Given the description of an element on the screen output the (x, y) to click on. 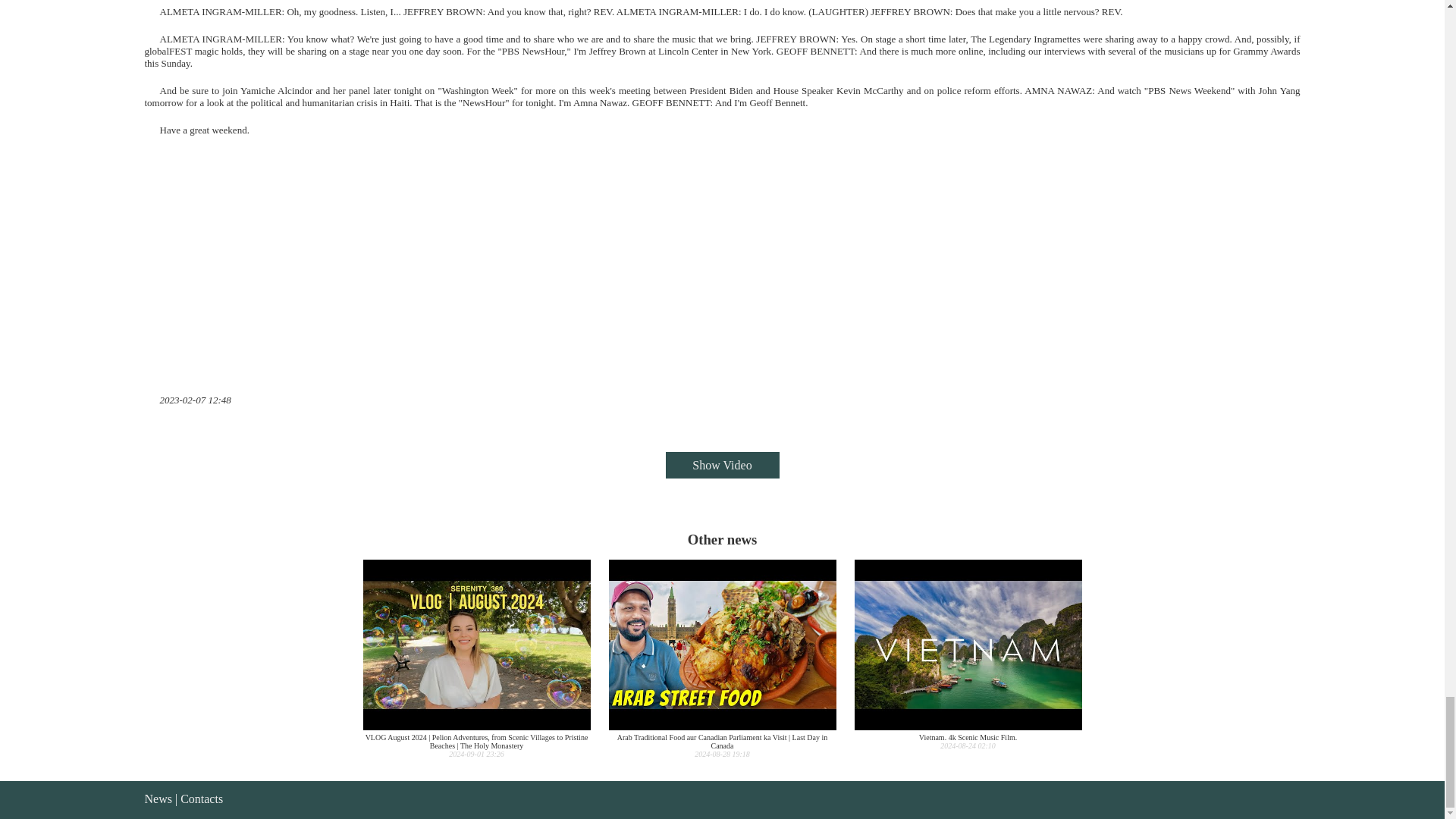
News (967, 654)
Contacts (157, 798)
Vietnam. 4k Scenic Music Film. (201, 798)
